Given the description of an element on the screen output the (x, y) to click on. 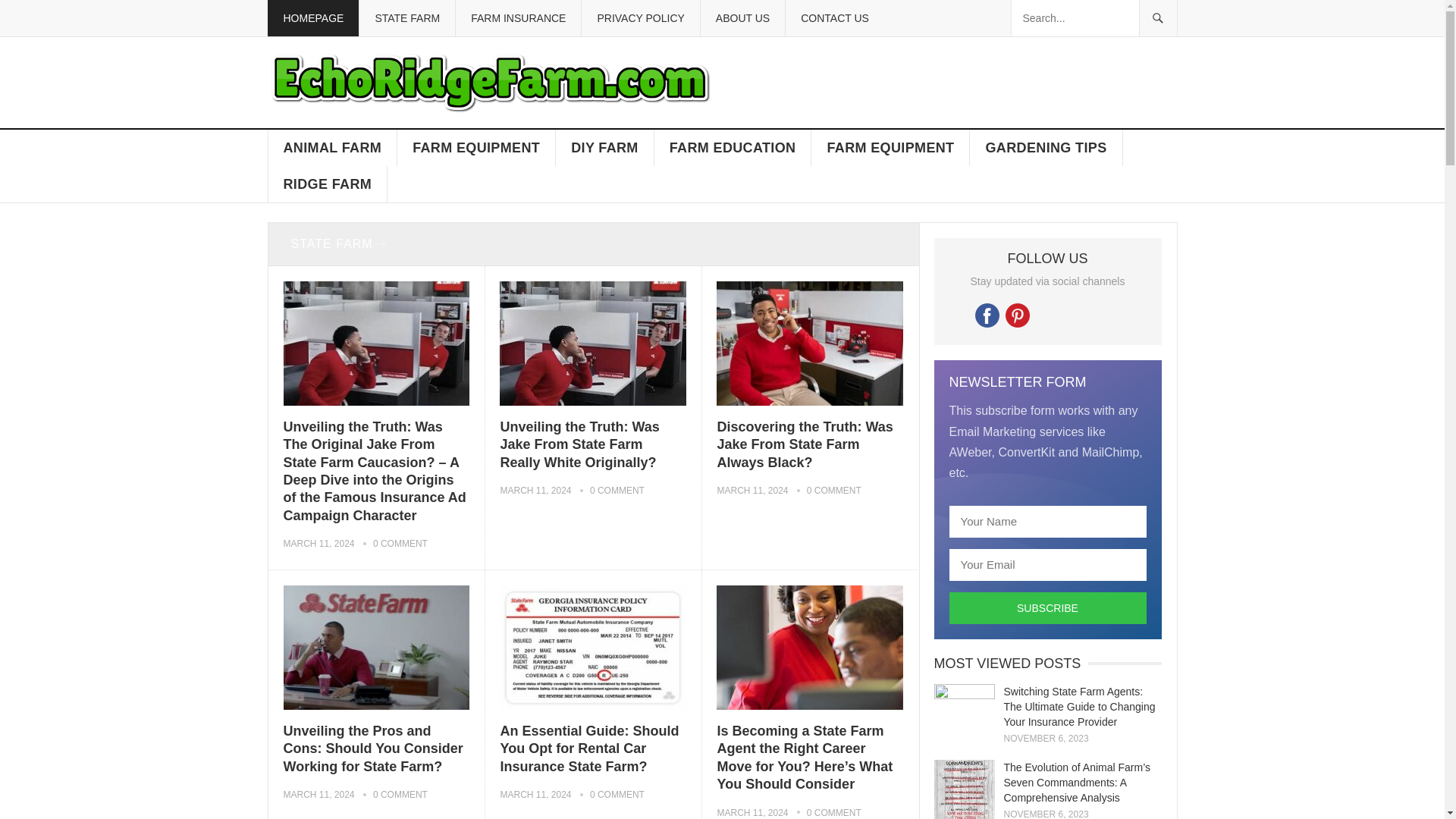
PRIVACY POLICY (639, 18)
0 COMMENT (833, 490)
0 COMMENT (617, 490)
STATE FARM (337, 243)
FARM EQUIPMENT (476, 147)
FARM EQUIPMENT (889, 147)
ANIMAL FARM (332, 147)
DIY FARM (604, 147)
0 COMMENT (400, 543)
